Given the description of an element on the screen output the (x, y) to click on. 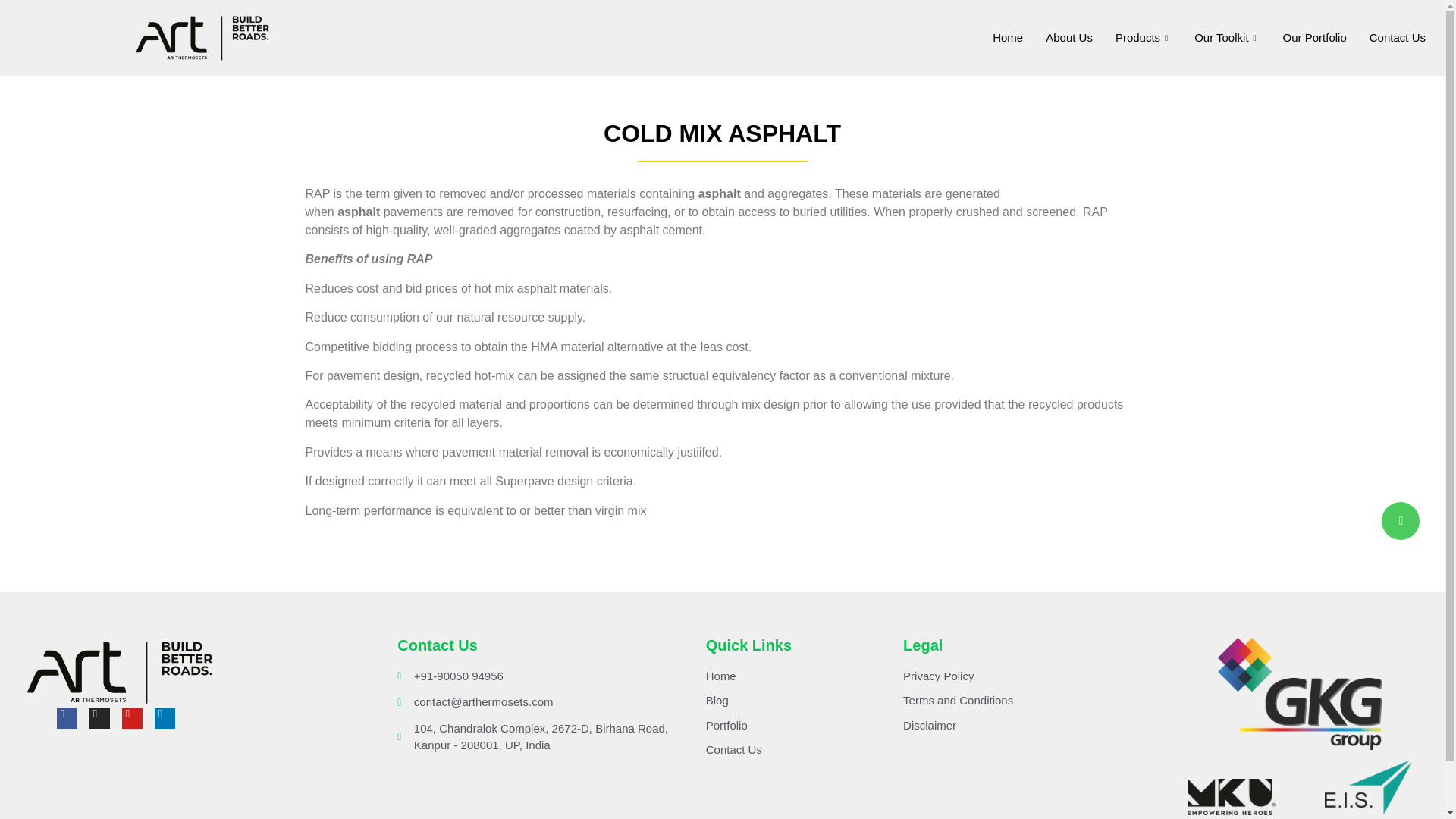
Products (1142, 37)
About Us (1068, 37)
